Given the description of an element on the screen output the (x, y) to click on. 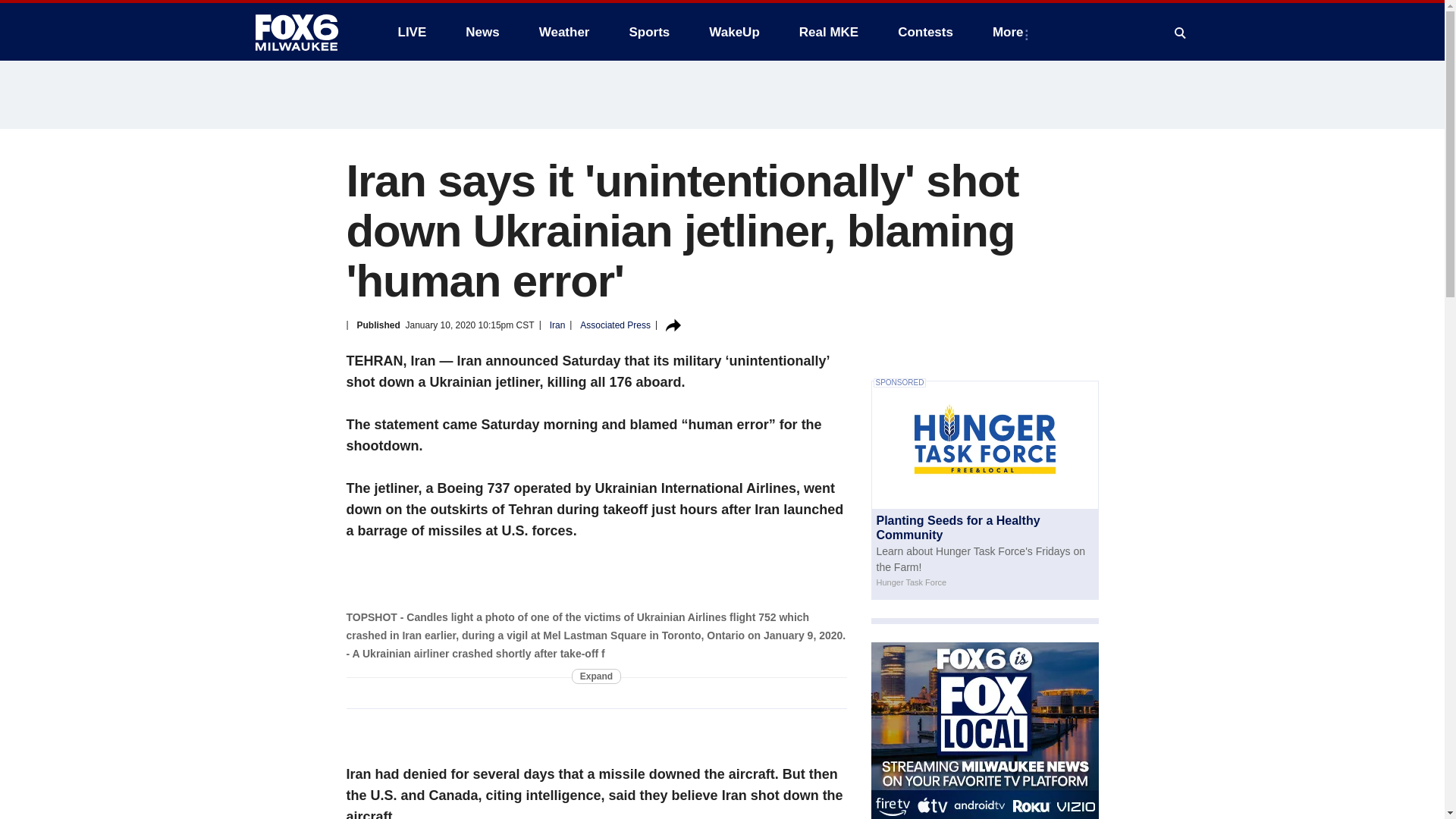
More (1010, 32)
Sports (648, 32)
Weather (564, 32)
WakeUp (734, 32)
LIVE (411, 32)
News (481, 32)
Contests (925, 32)
Real MKE (828, 32)
